Given the description of an element on the screen output the (x, y) to click on. 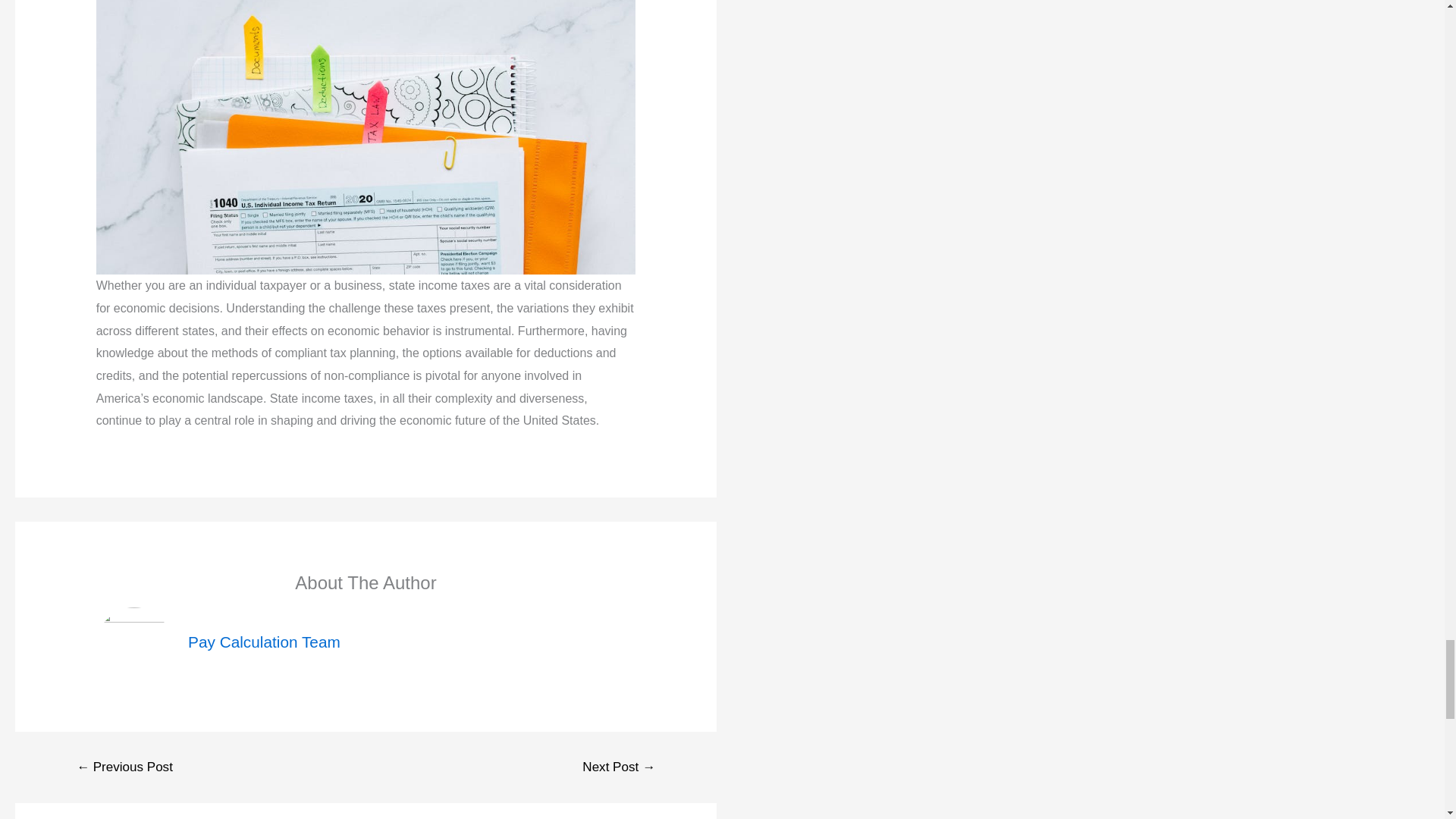
Pay Calculation Team (263, 641)
